Given the description of an element on the screen output the (x, y) to click on. 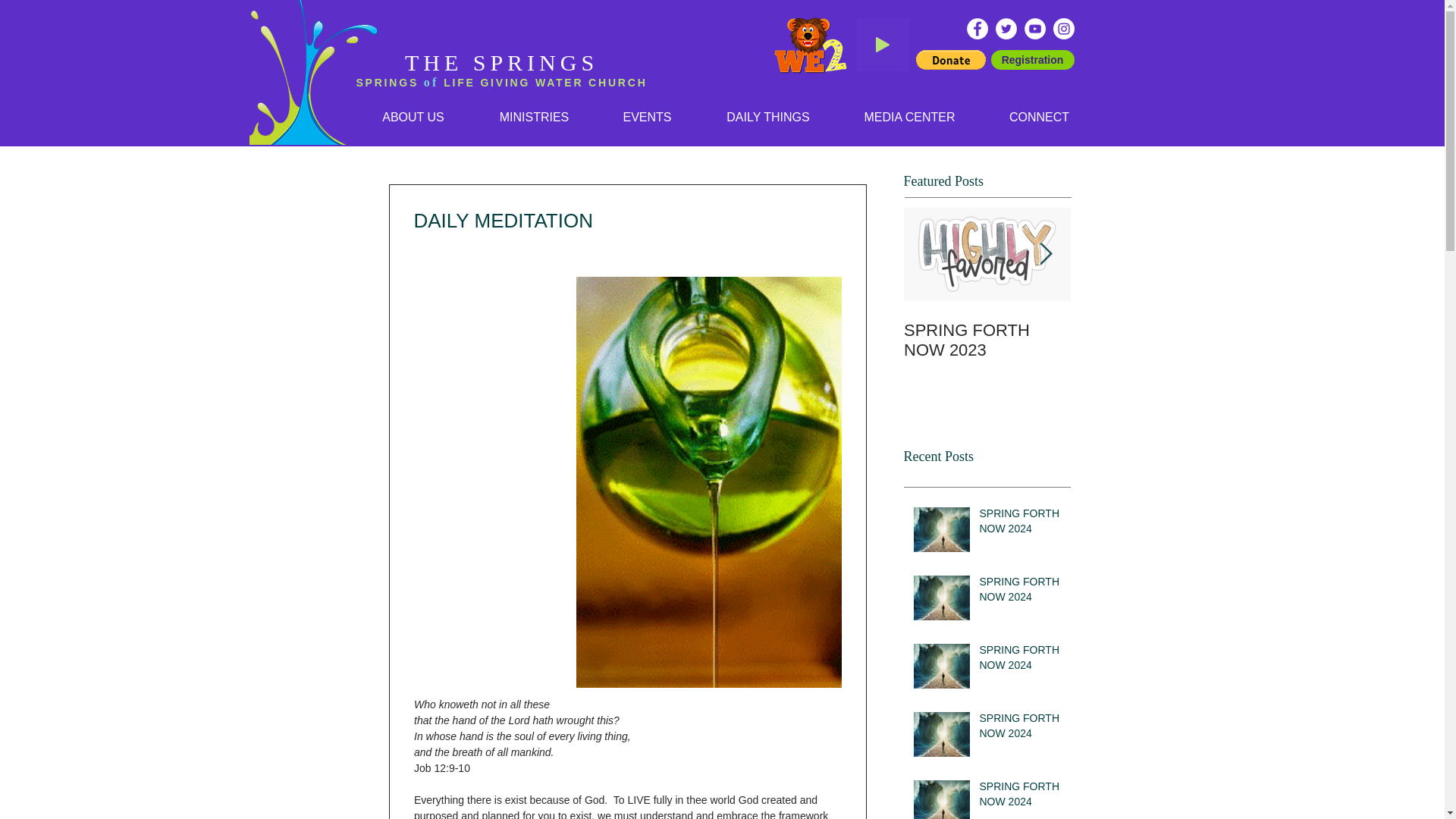
SPRING FORTH NOW 2024 (1020, 524)
DAILY THINGS (768, 116)
MEDIA CENTER (909, 116)
SPRING FORTH NOW 2023 (987, 340)
Registration (1032, 59)
CONNECT (1038, 116)
THE SPRINGS (501, 62)
EVENTS (646, 116)
ABOUT US (412, 116)
